Given the description of an element on the screen output the (x, y) to click on. 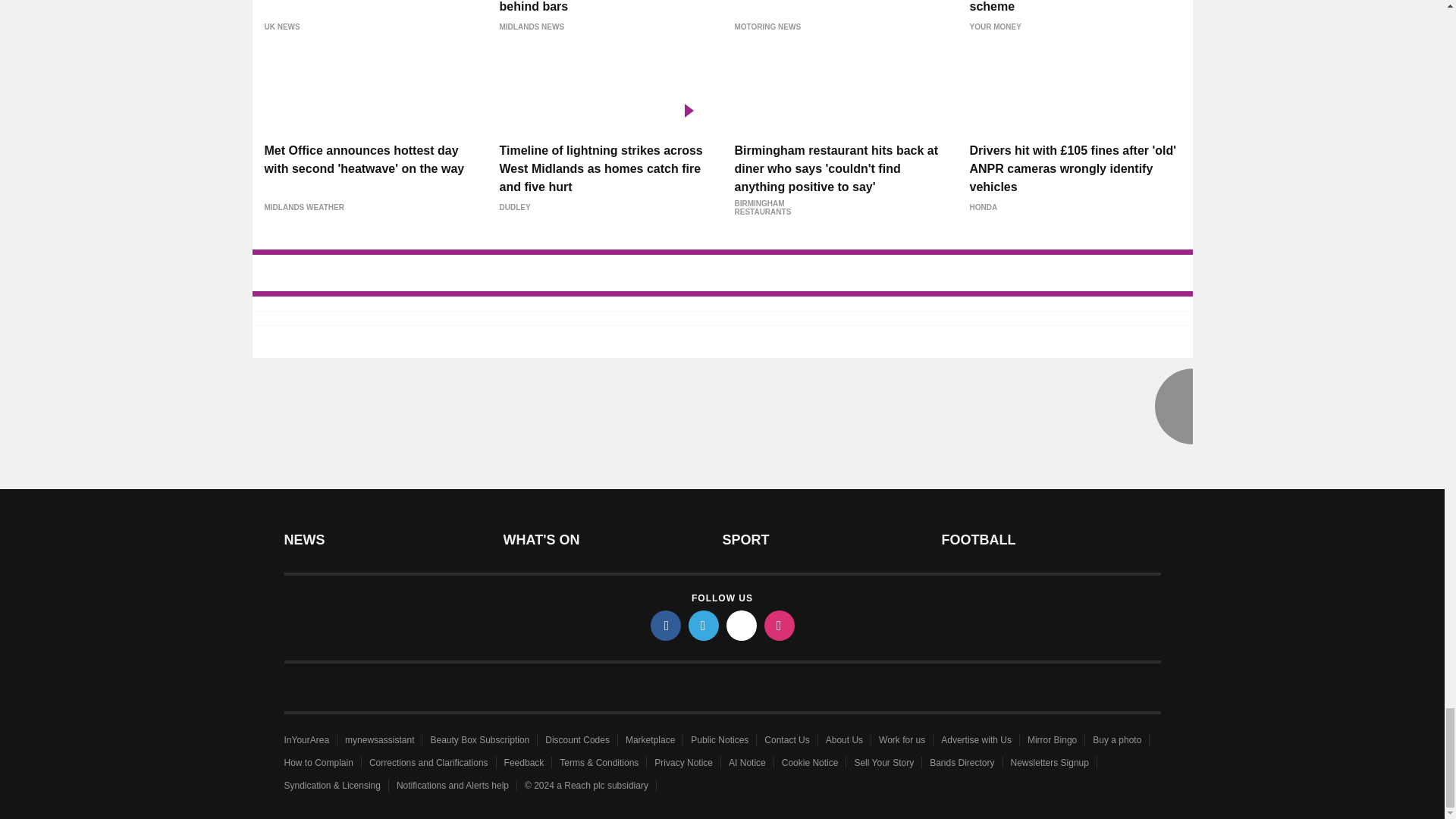
twitter (703, 625)
facebook (665, 625)
tiktok (741, 625)
instagram (779, 625)
